Given the description of an element on the screen output the (x, y) to click on. 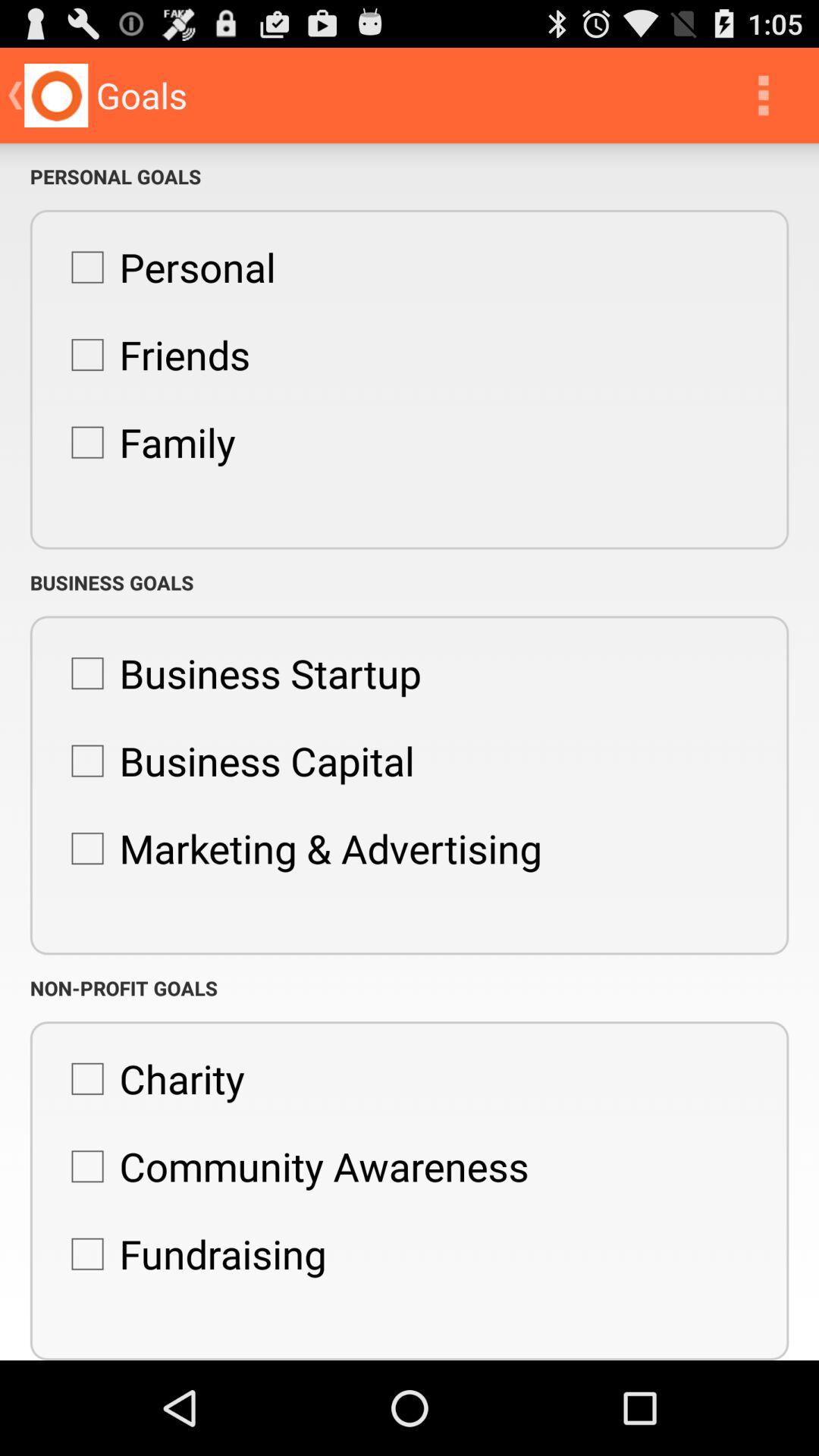
flip to the marketing & advertising item (298, 848)
